Given the description of an element on the screen output the (x, y) to click on. 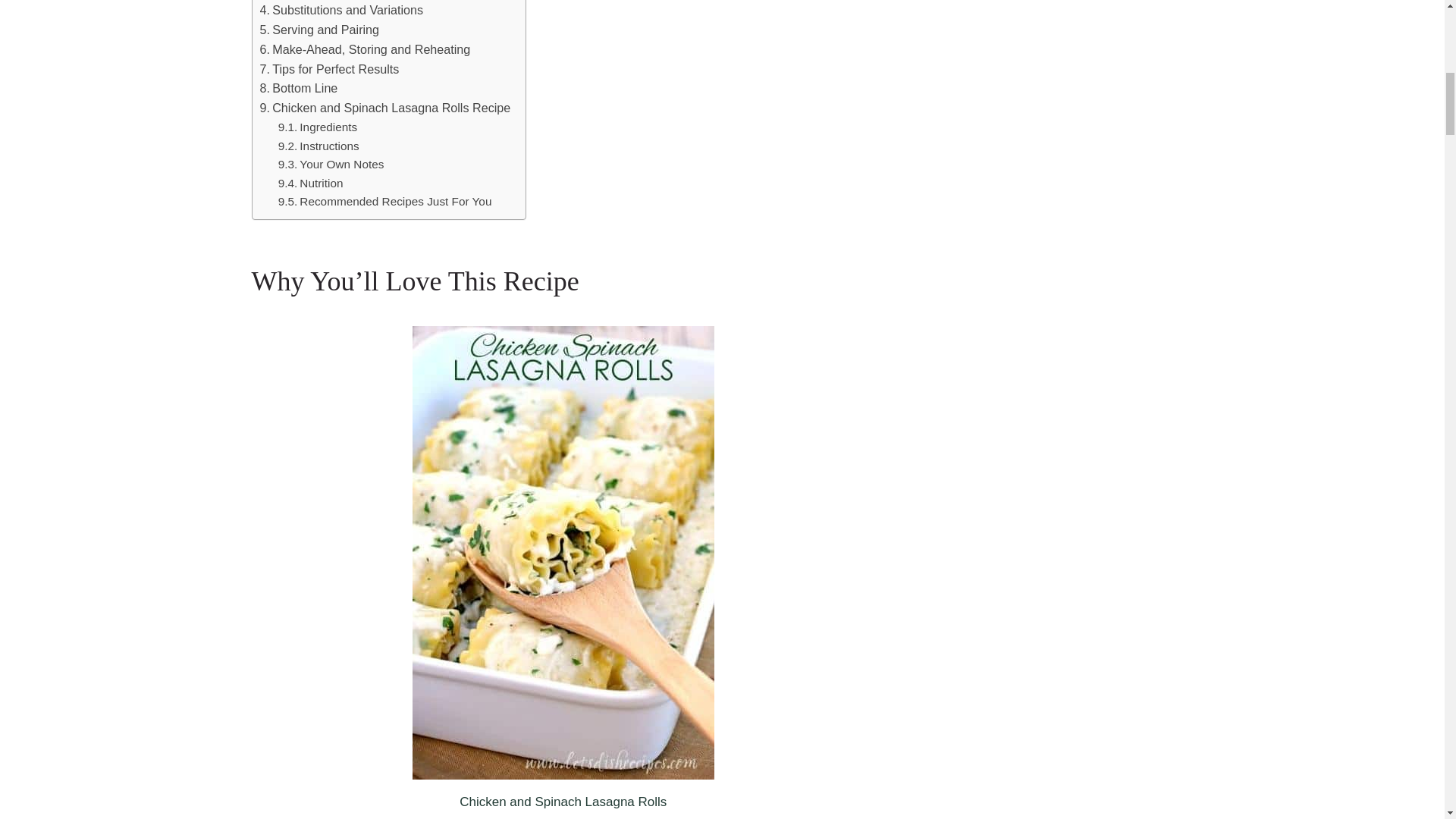
Ingredients   (321, 127)
Recommended Recipes Just For You (385, 201)
Make-Ahead, Storing and Reheating (364, 49)
Tips for Perfect Results (328, 69)
Substitutions and Variations (341, 10)
Substitutions and Variations (341, 10)
Bottom Line (298, 88)
Make-Ahead, Storing and Reheating (364, 49)
Recommended Recipes Just For You (385, 201)
Your Own Notes (331, 164)
Chicken and Spinach Lasagna Rolls Recipe (385, 107)
Nutrition (310, 183)
